Given the description of an element on the screen output the (x, y) to click on. 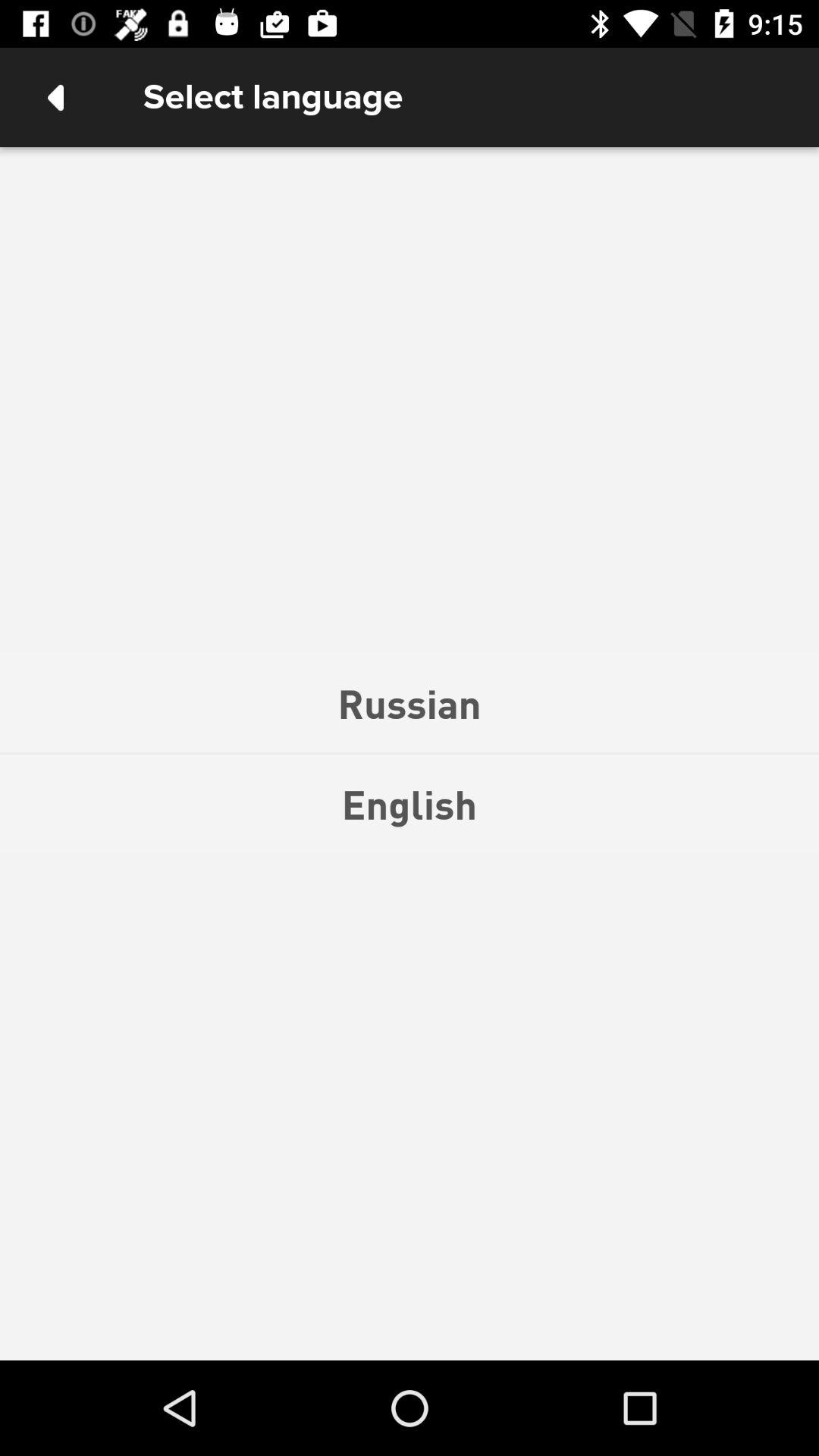
click russian icon (409, 703)
